Given the description of an element on the screen output the (x, y) to click on. 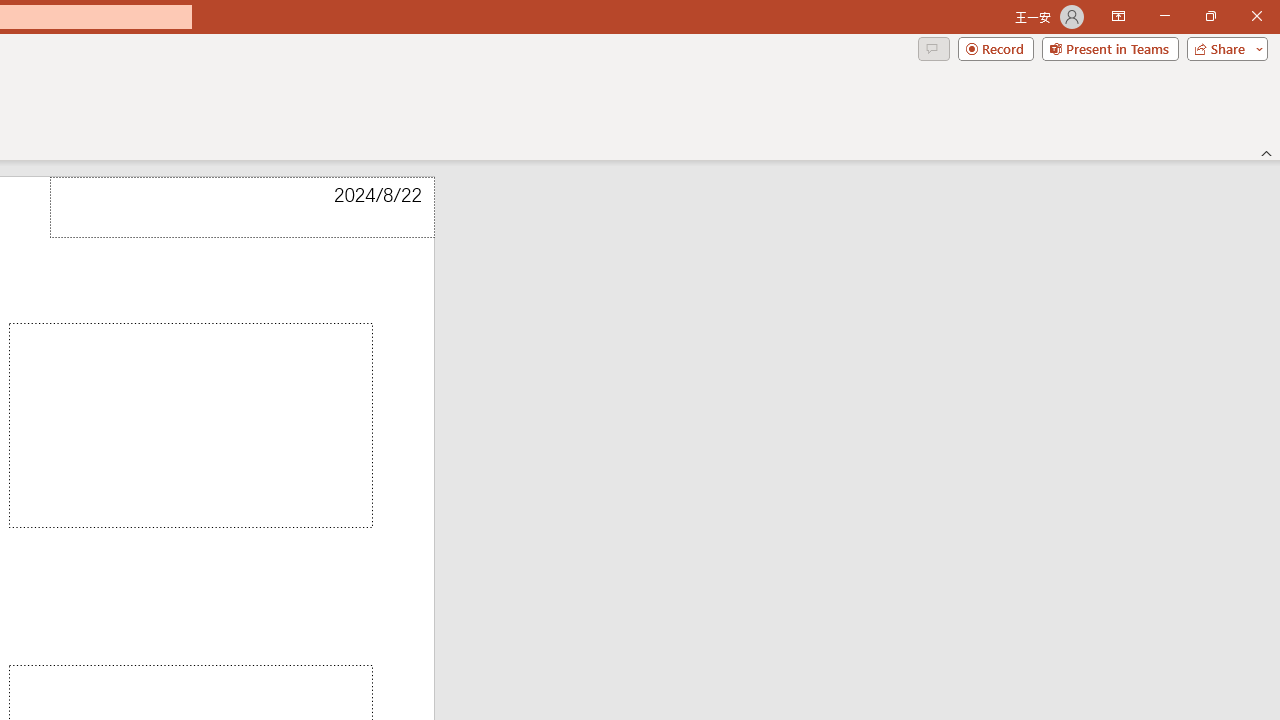
Date (242, 207)
